Given the description of an element on the screen output the (x, y) to click on. 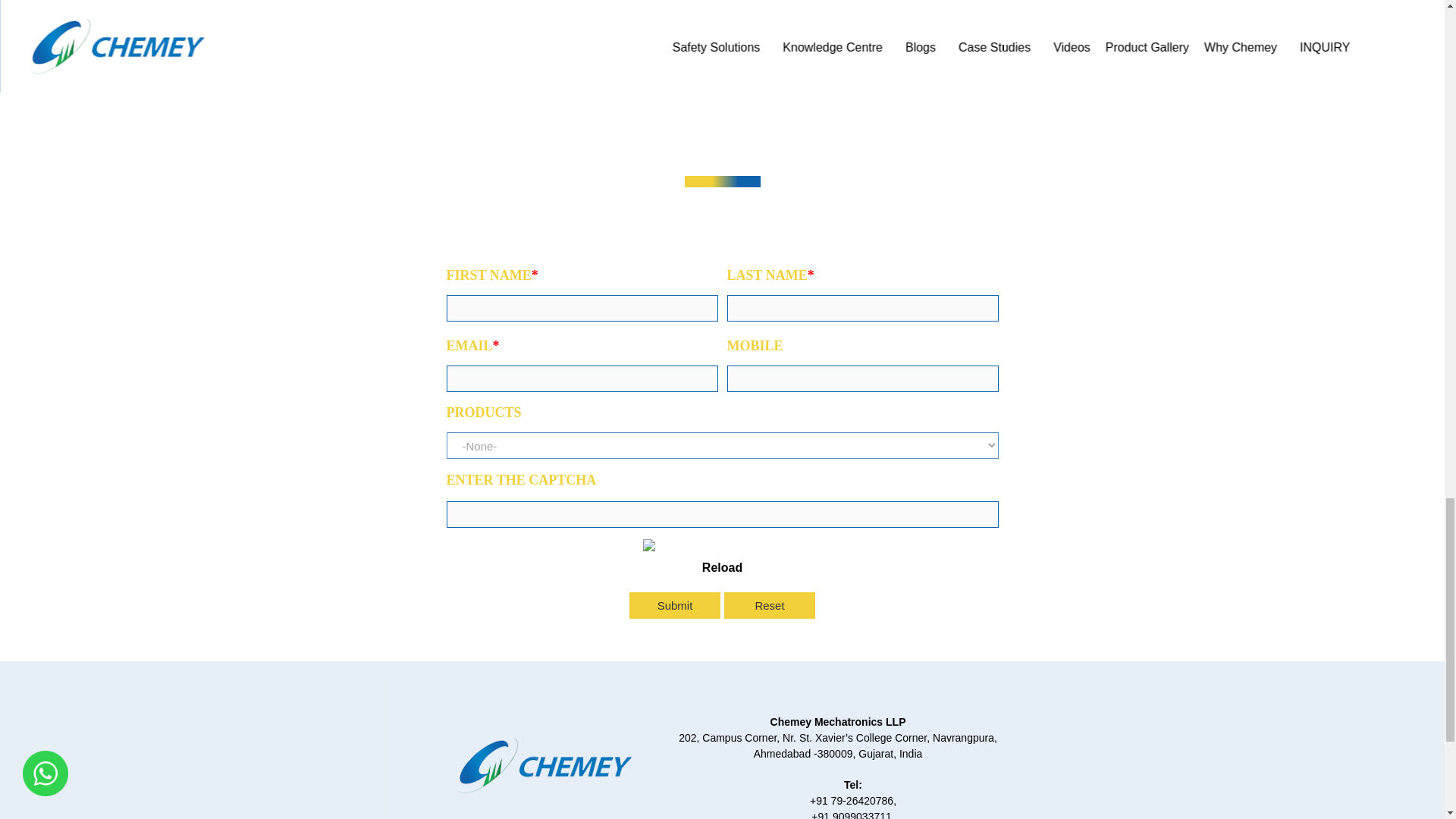
Submit (674, 605)
Submit (674, 605)
Reset (769, 605)
Reset (769, 605)
